Given the description of an element on the screen output the (x, y) to click on. 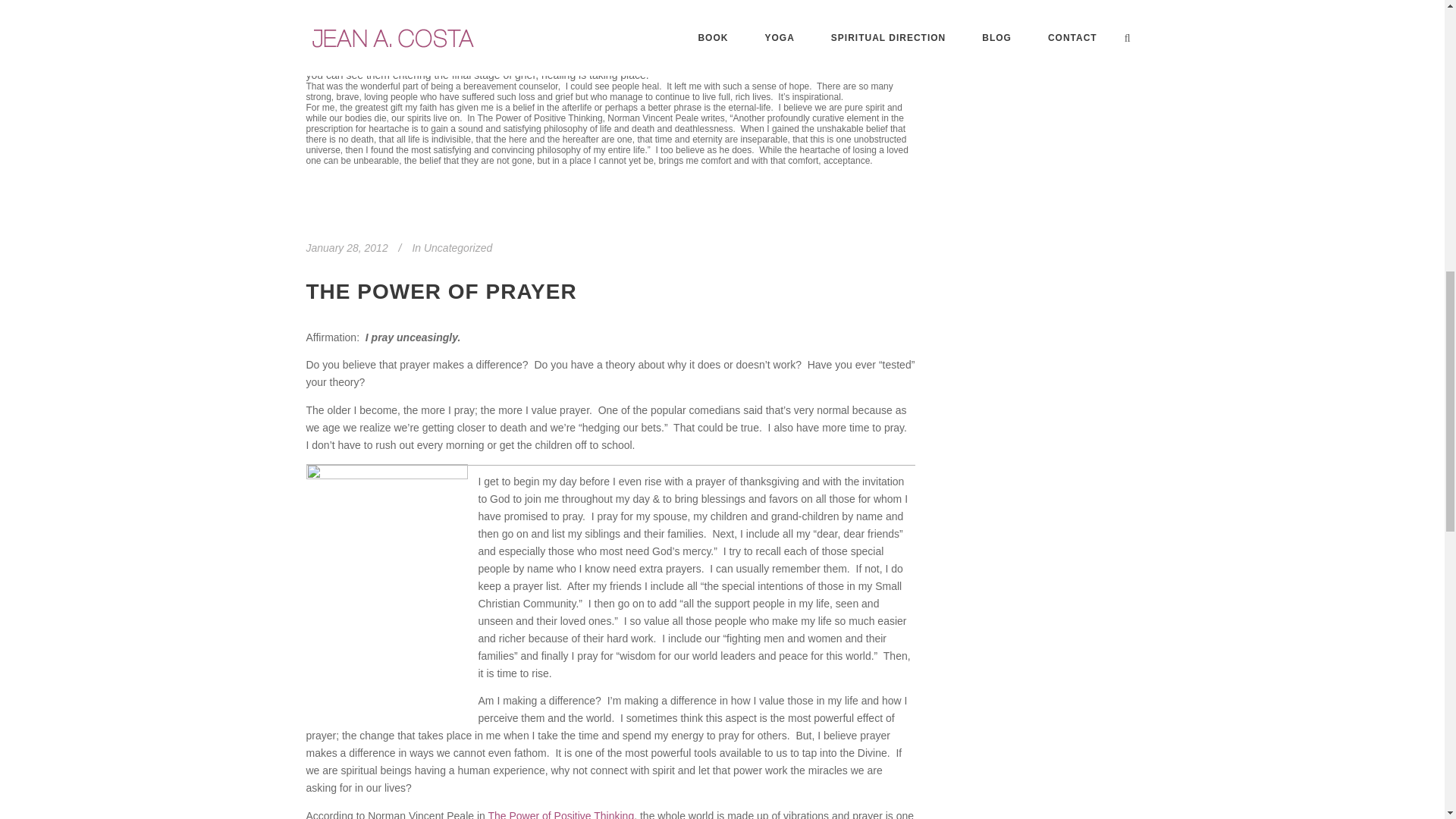
Uncategorized (457, 247)
THE POWER OF PRAYER (440, 291)
The Power of Positive Thinking (560, 814)
